Given the description of an element on the screen output the (x, y) to click on. 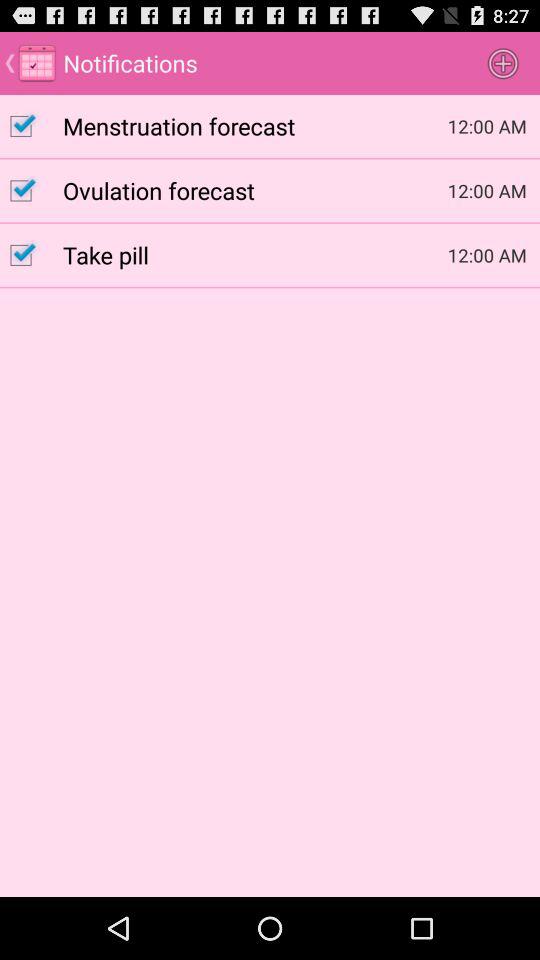
launch menstruation forecast icon (255, 125)
